Given the description of an element on the screen output the (x, y) to click on. 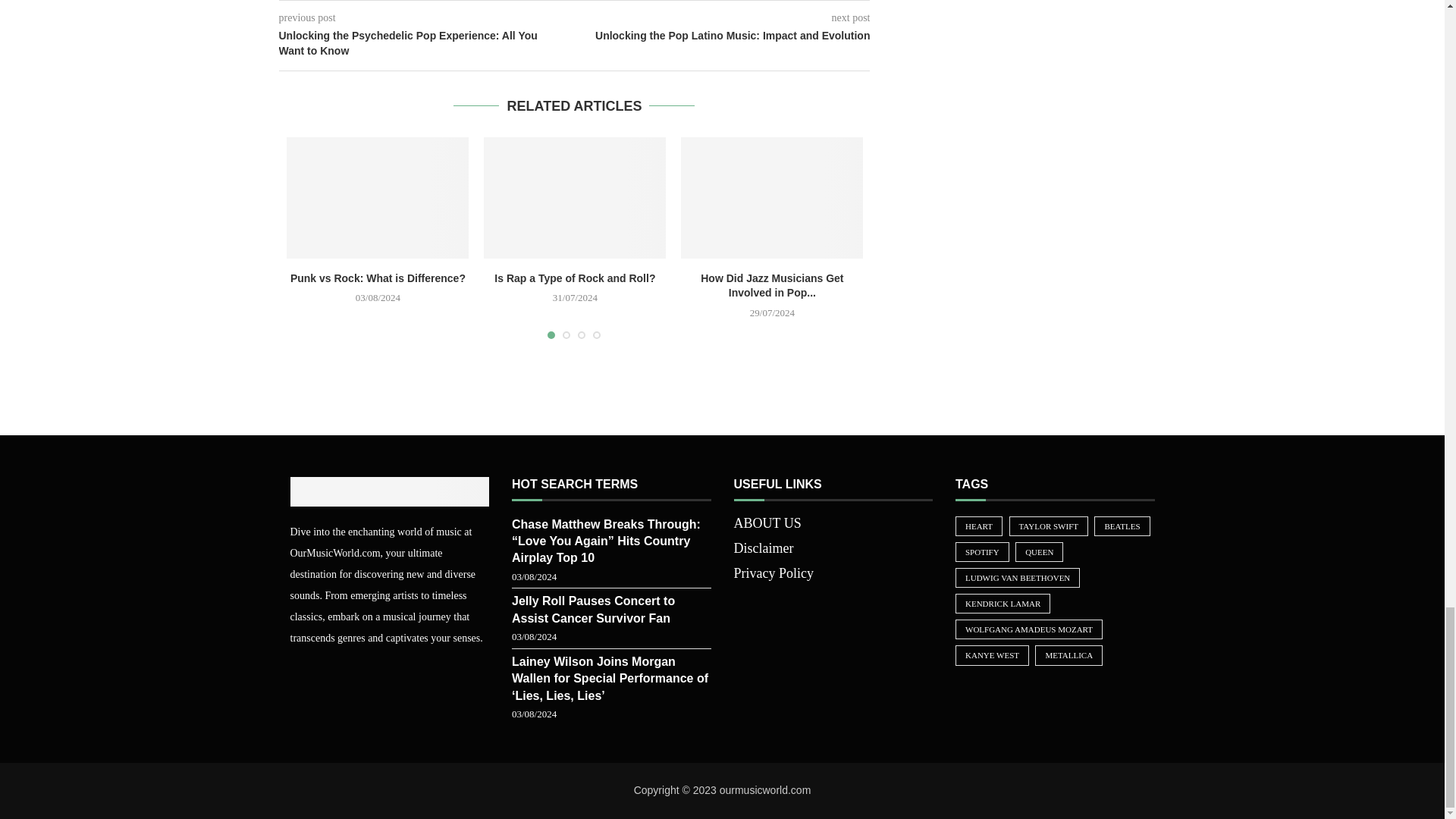
Is Rap a Type of Rock and Roll? (574, 197)
Punk vs Rock: What is Difference? (377, 197)
